Given the description of an element on the screen output the (x, y) to click on. 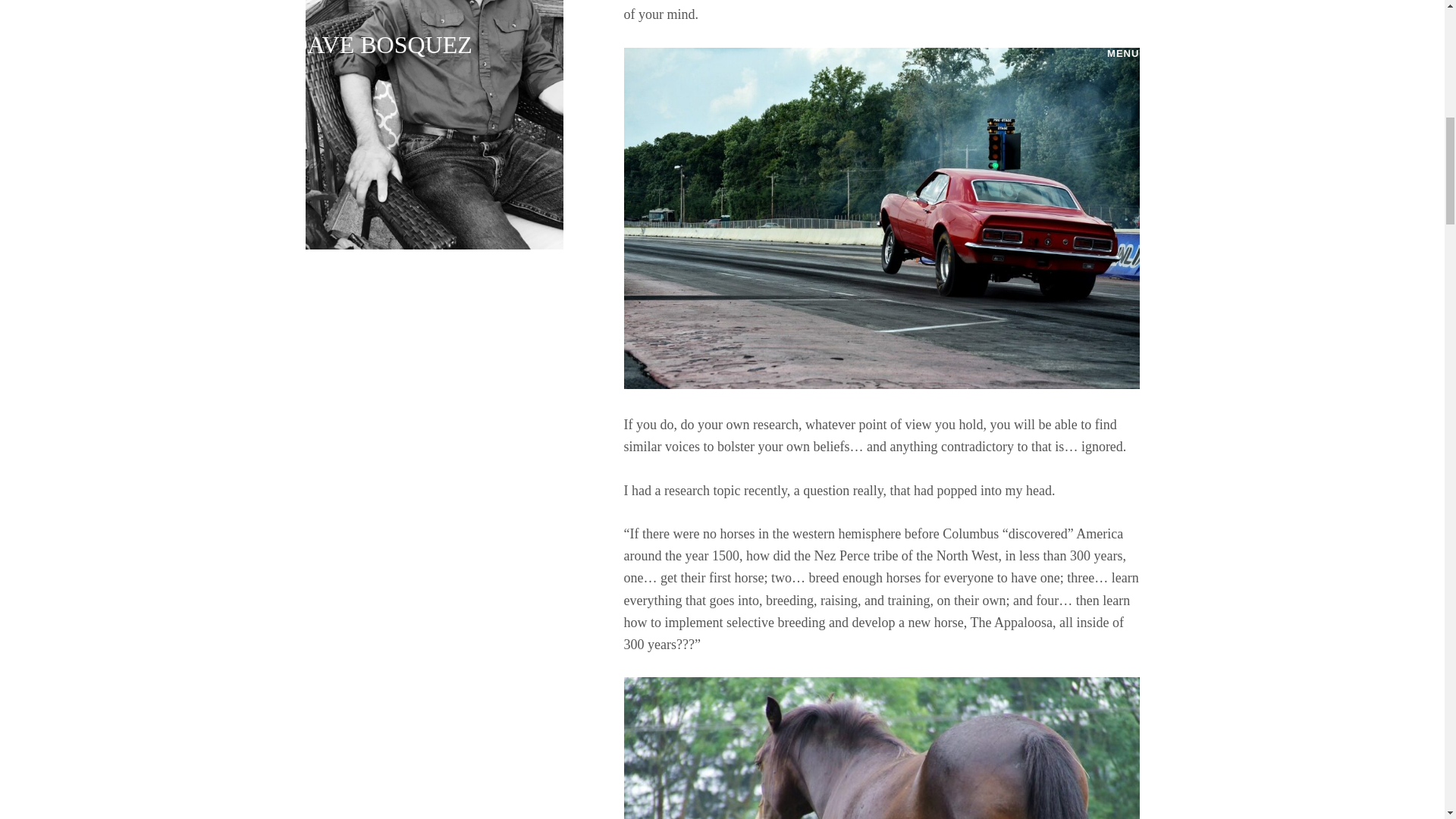
Dave Bosquez (433, 124)
